Given the description of an element on the screen output the (x, y) to click on. 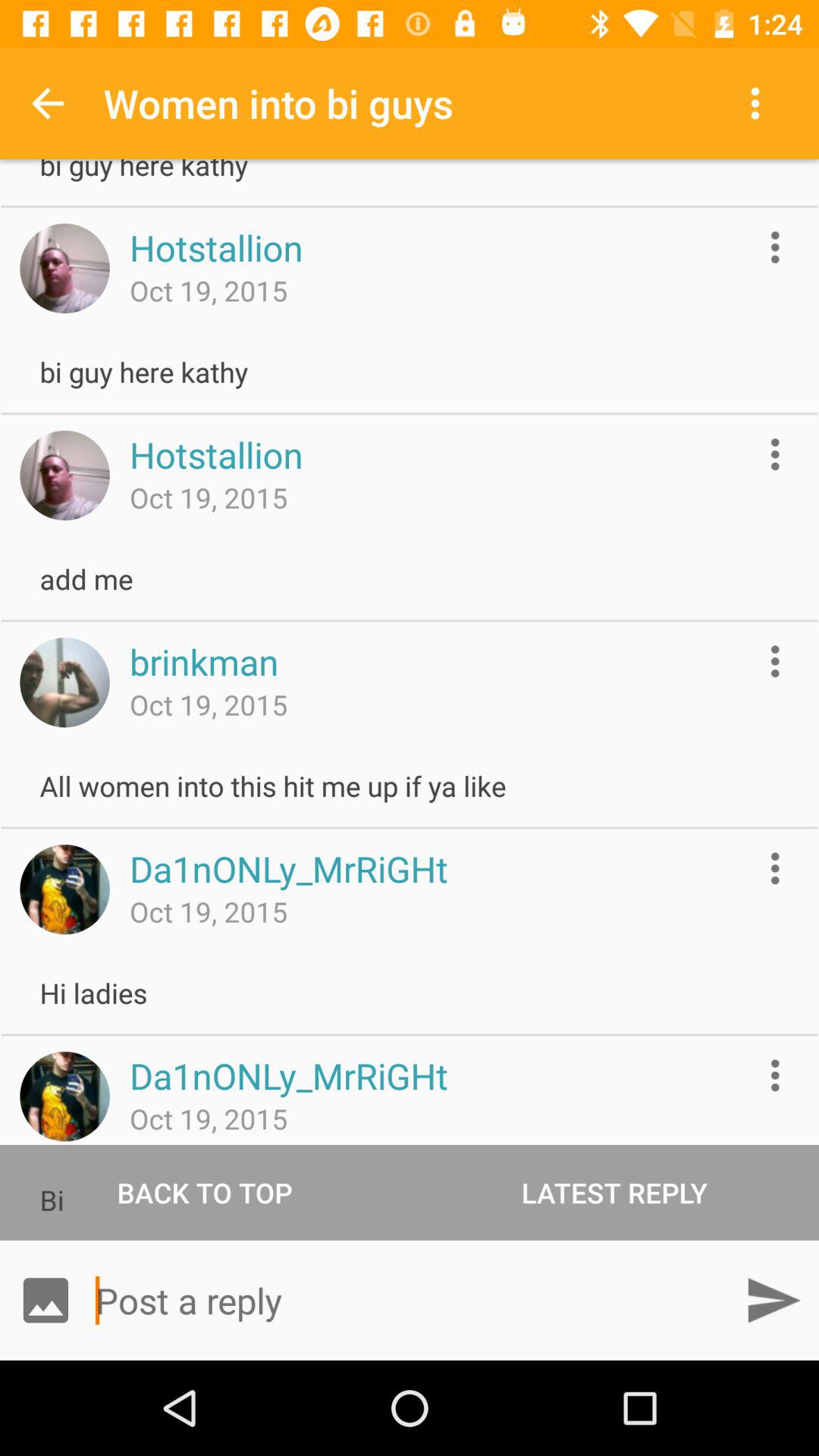
turn off item to the left of latest reply item (204, 1192)
